Given the description of an element on the screen output the (x, y) to click on. 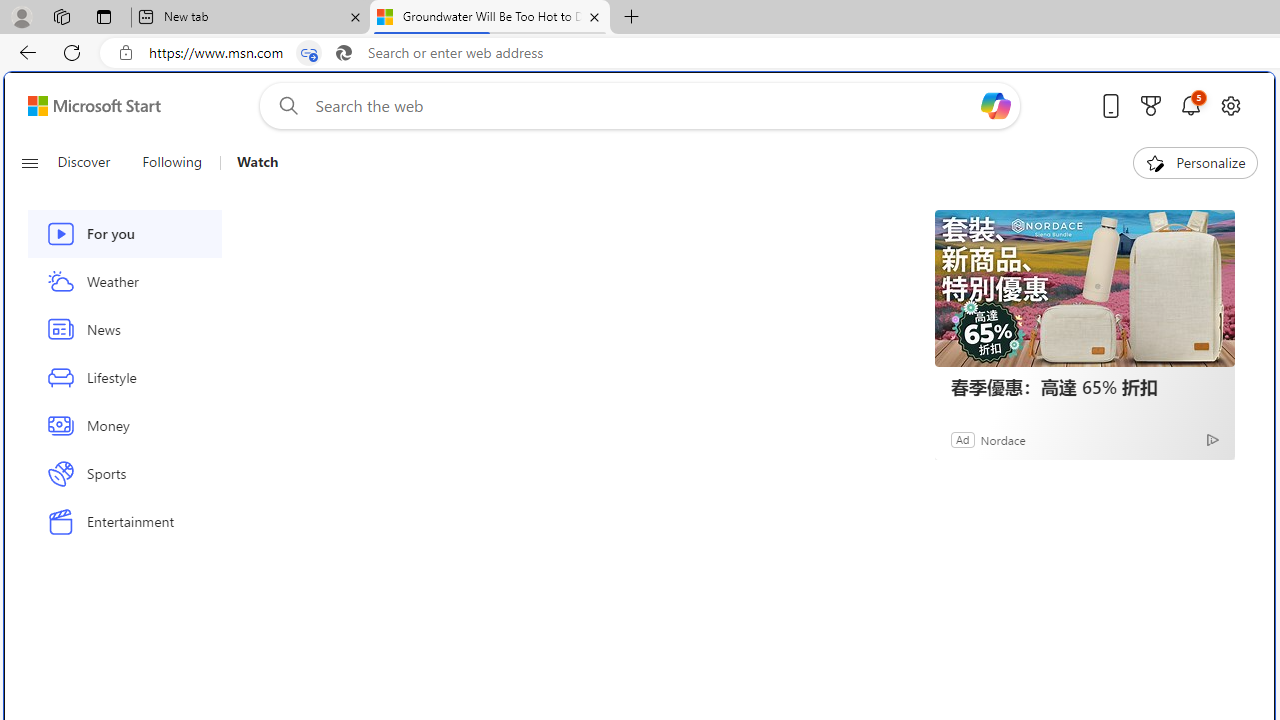
Class: button-glyph (29, 162)
Skip to footer (82, 105)
